Given the description of an element on the screen output the (x, y) to click on. 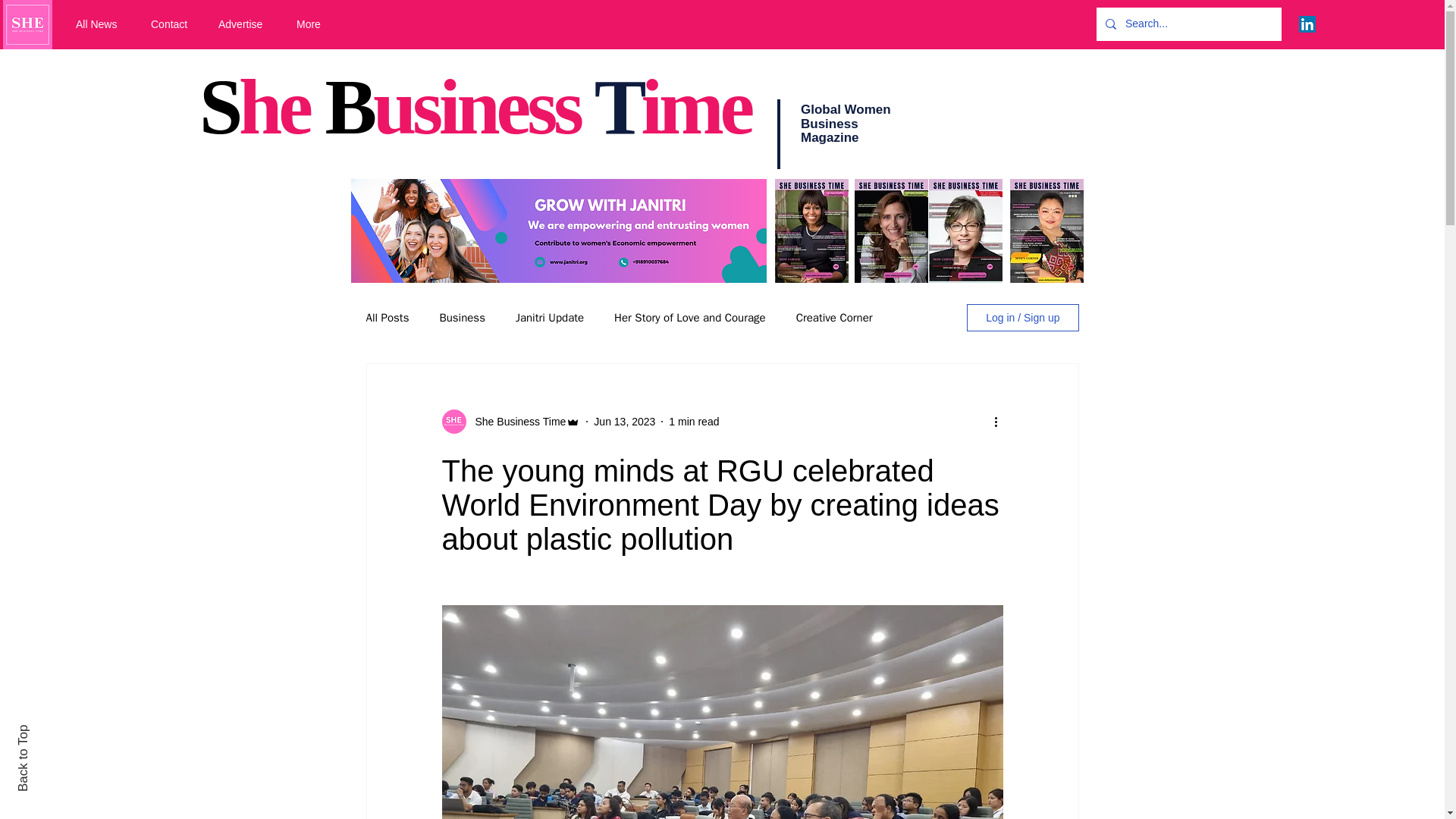
he (281, 106)
Her Story of Love and Courage (689, 318)
Business (461, 318)
Advertise (245, 24)
ime (696, 106)
Janitri Update (549, 318)
Jun 13, 2023 (624, 421)
vector (27, 24)
Turquoise Simple Modern Linkedin Banner. (557, 230)
She Business Time (515, 421)
All Posts (387, 318)
Creative Corner (834, 318)
Contact (172, 24)
All News (101, 24)
usiness (483, 106)
